Given the description of an element on the screen output the (x, y) to click on. 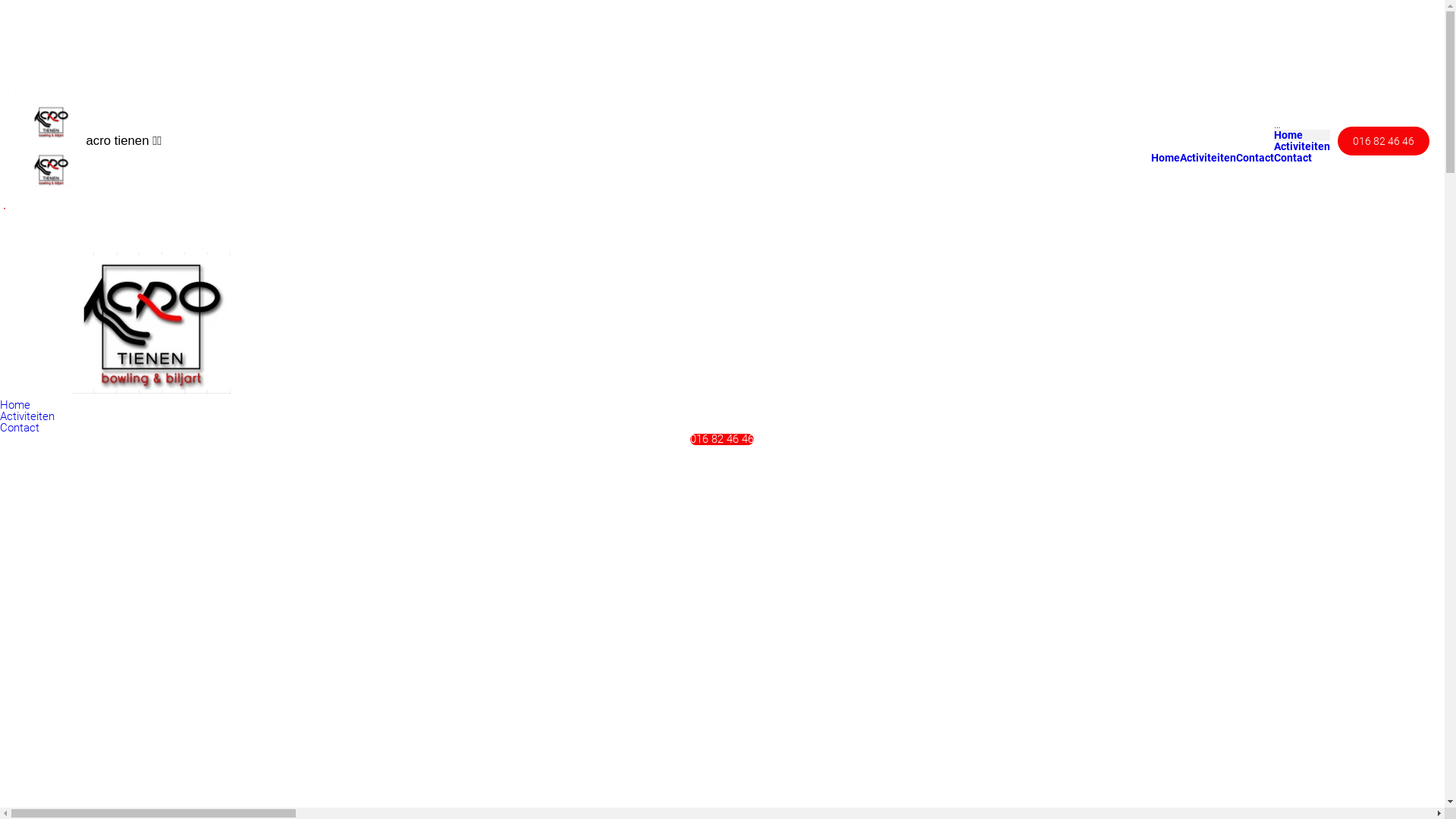
016 82 46 46 Element type: text (721, 439)
016 82 46 46 Element type: text (1383, 140)
Home Element type: text (1288, 134)
Contact Element type: text (1292, 157)
Contact Element type: text (1255, 157)
Contact Element type: text (19, 427)
Activiteiten Element type: text (27, 416)
Activiteiten Element type: text (1207, 157)
Home Element type: text (15, 404)
Home Element type: text (1165, 157)
Activiteiten Element type: text (1302, 146)
